Given the description of an element on the screen output the (x, y) to click on. 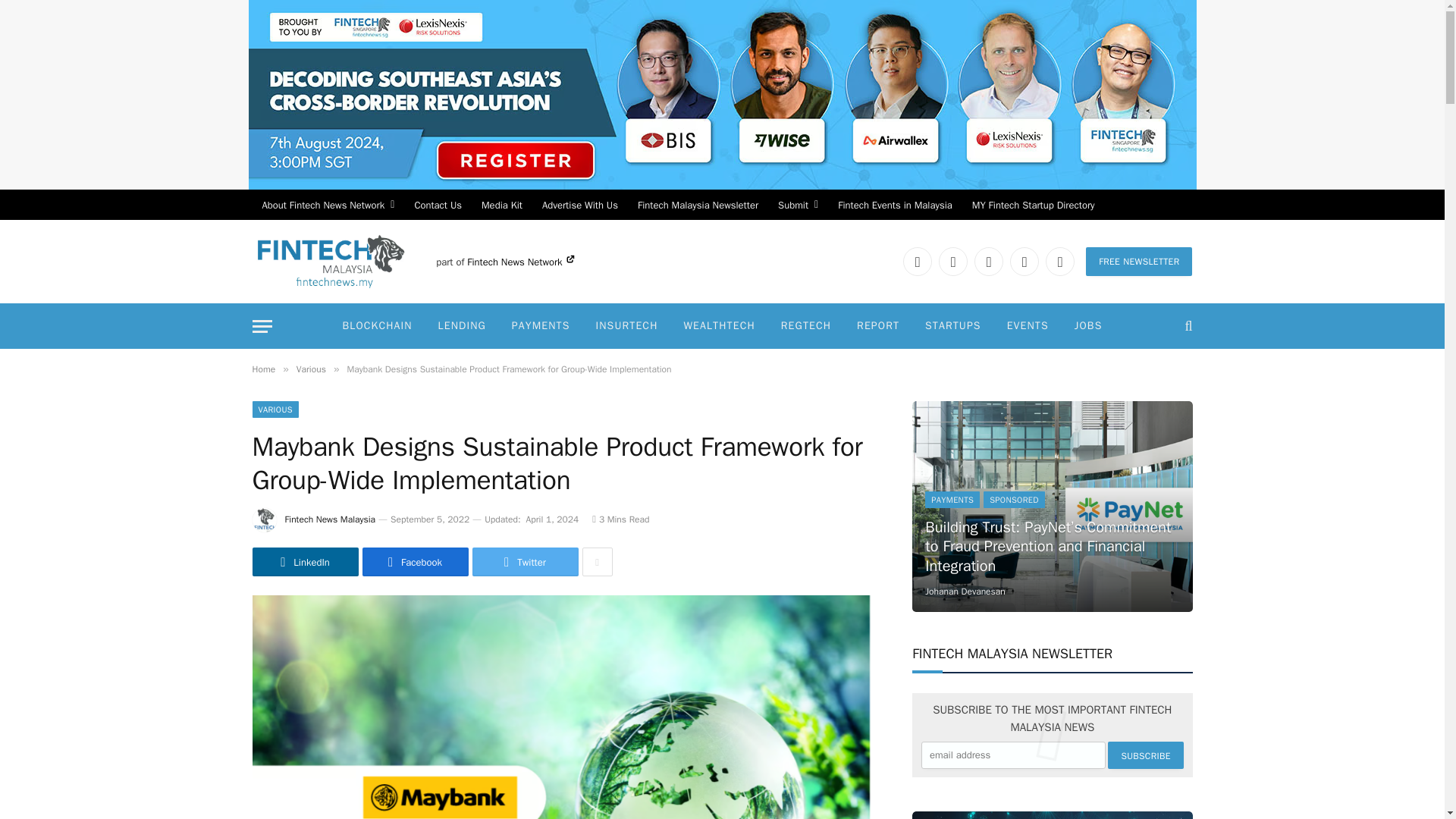
Subscribe (1145, 755)
Show More Social Sharing (597, 561)
LinkedIn (916, 261)
Share on LinkedIn (304, 561)
Share on Facebook (415, 561)
About Fintech News Network (327, 204)
Contact Us (437, 204)
Submit (798, 204)
Fintech News Network (520, 261)
Media Kit (501, 204)
MY Fintech Startup Directory (1033, 204)
Fintech News Malaysia (330, 261)
Fintech Events in Malaysia (895, 204)
Fintech Malaysia Newsletter (697, 204)
